Given the description of an element on the screen output the (x, y) to click on. 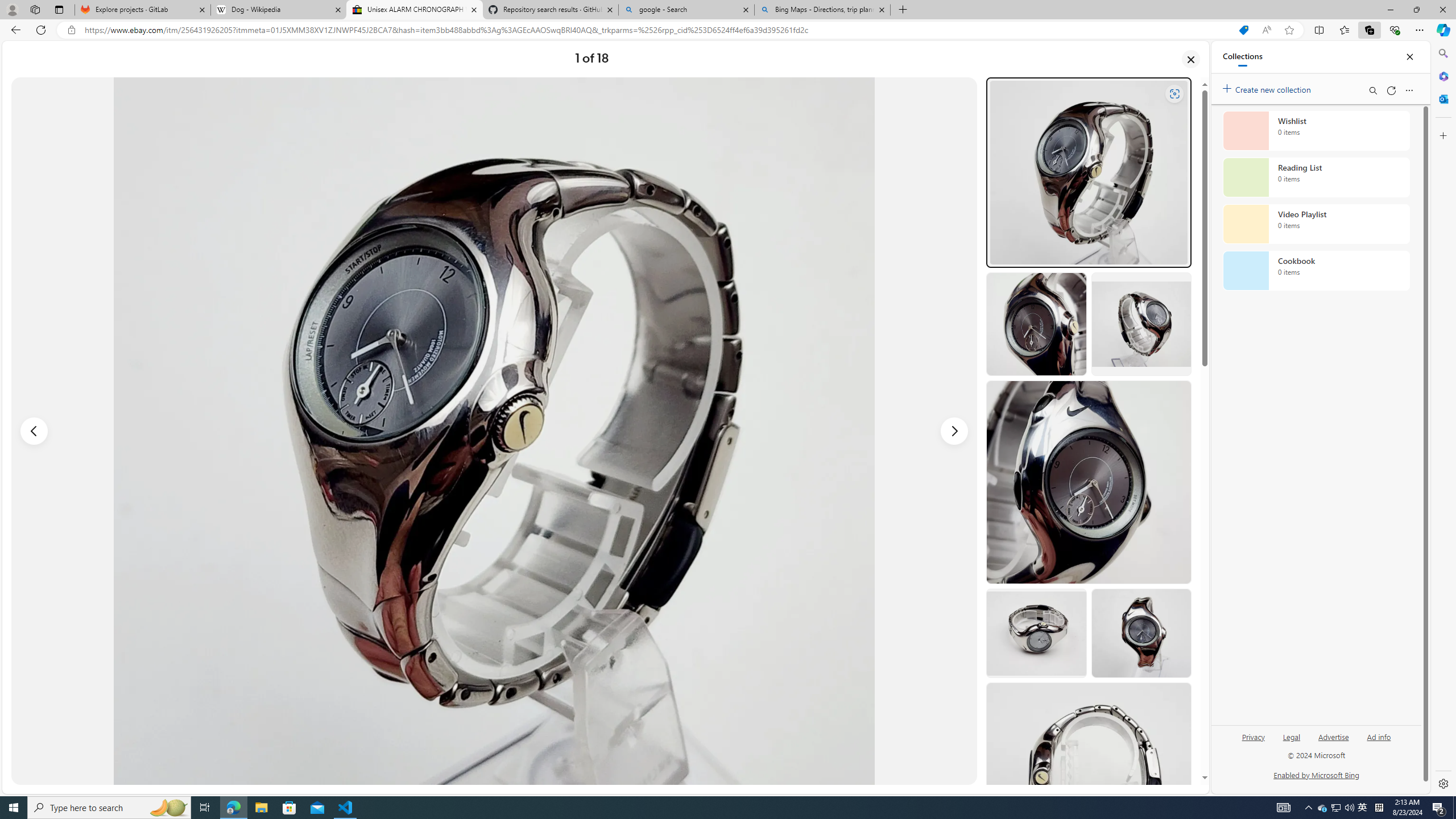
Advertise (1333, 741)
google - Search (685, 9)
Outlook (1442, 98)
Cookbook collection, 0 items (1316, 270)
Previous image - Item images thumbnails (34, 430)
